Given the description of an element on the screen output the (x, y) to click on. 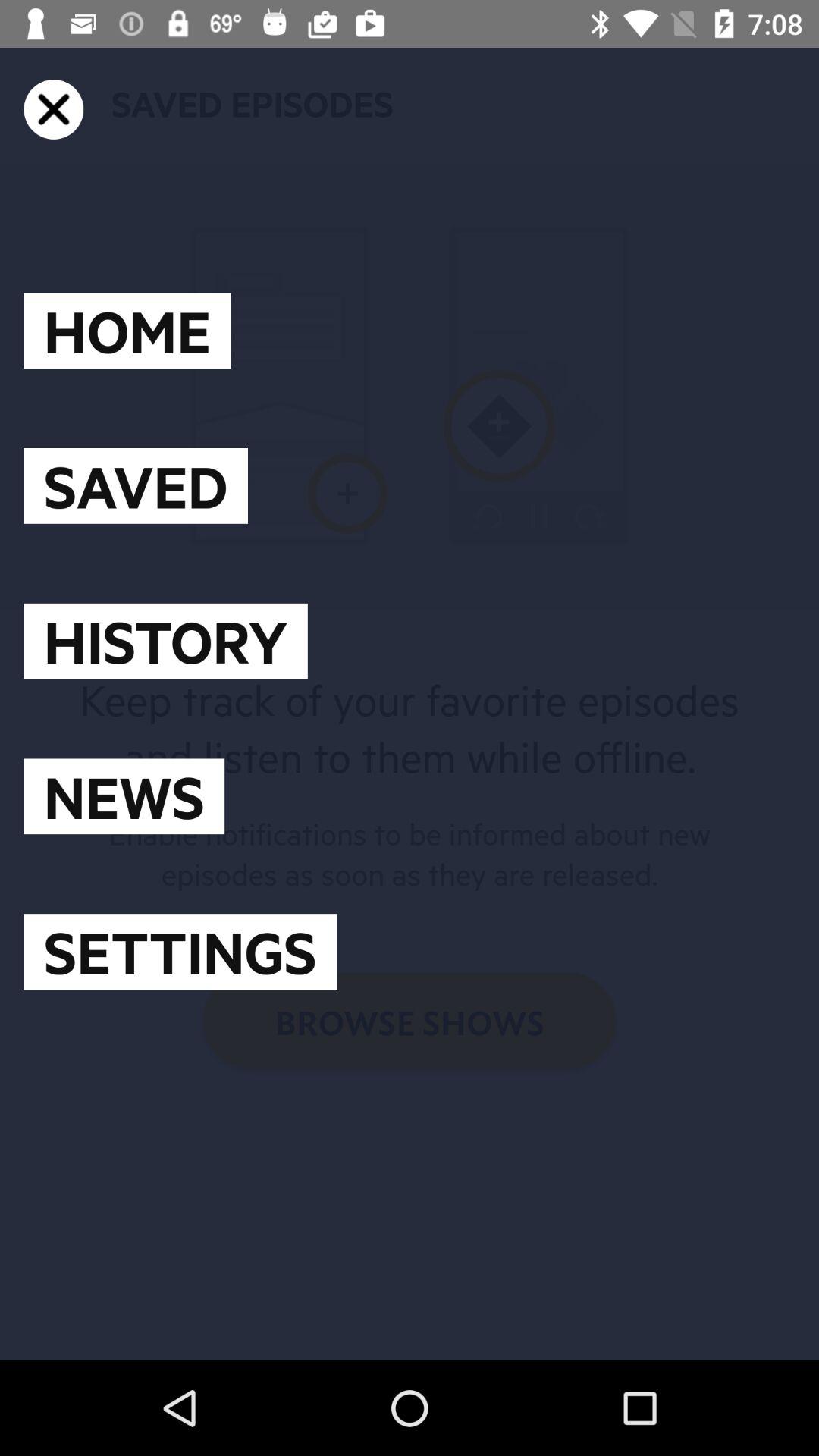
turn off home (126, 330)
